Given the description of an element on the screen output the (x, y) to click on. 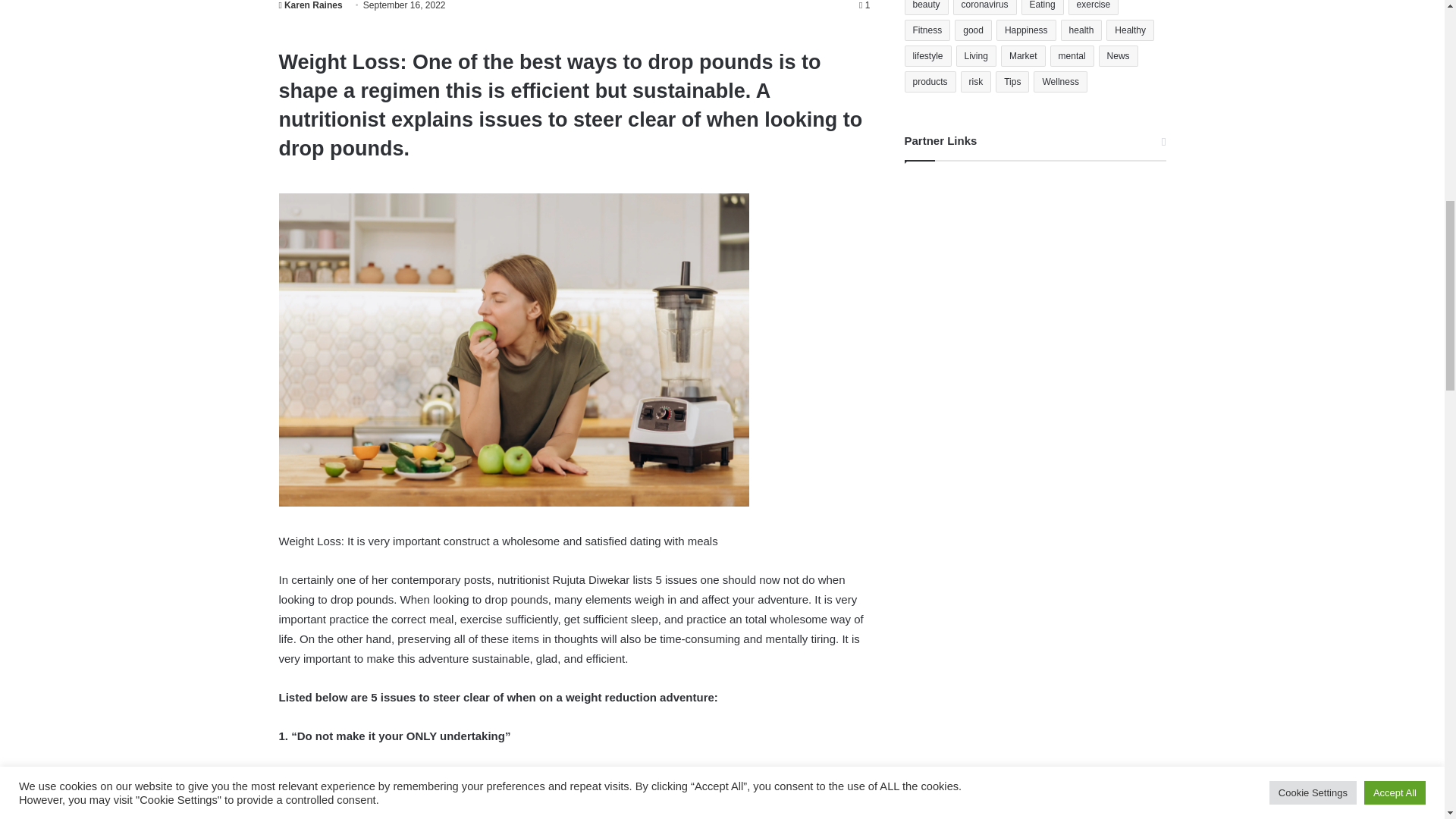
Karen Raines (310, 5)
Karen Raines (310, 5)
